Given the description of an element on the screen output the (x, y) to click on. 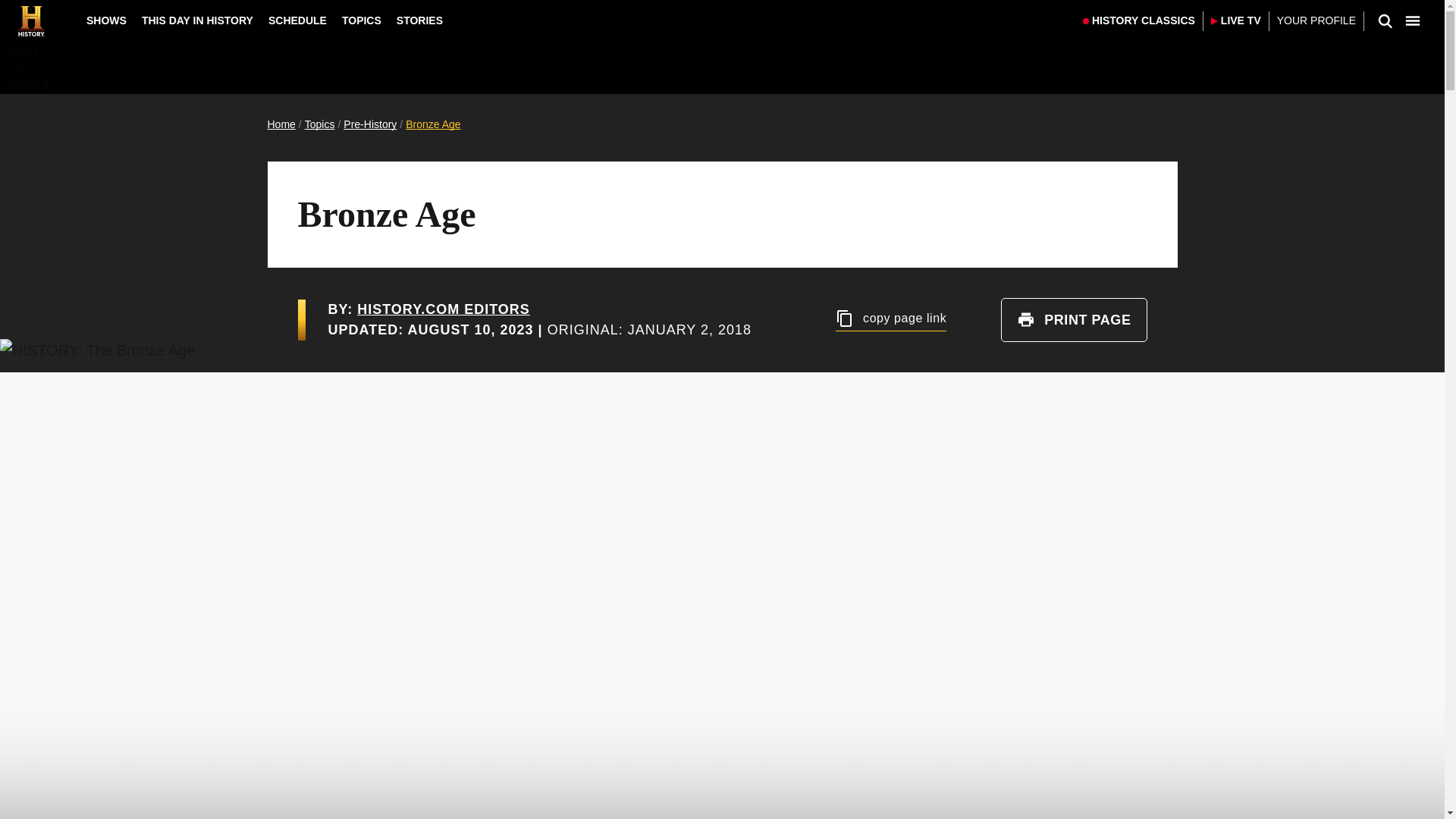
SHOWS (105, 20)
THIS DAY IN HISTORY (196, 20)
HISTORY.COM EDITORS (442, 309)
Home (280, 123)
YOUR PROFILE (1315, 21)
PRINT PAGE (1074, 320)
copy page link (890, 320)
Topics (319, 123)
LIVE TV (1236, 20)
HISTORY CLASSICS (1138, 20)
